Given the description of an element on the screen output the (x, y) to click on. 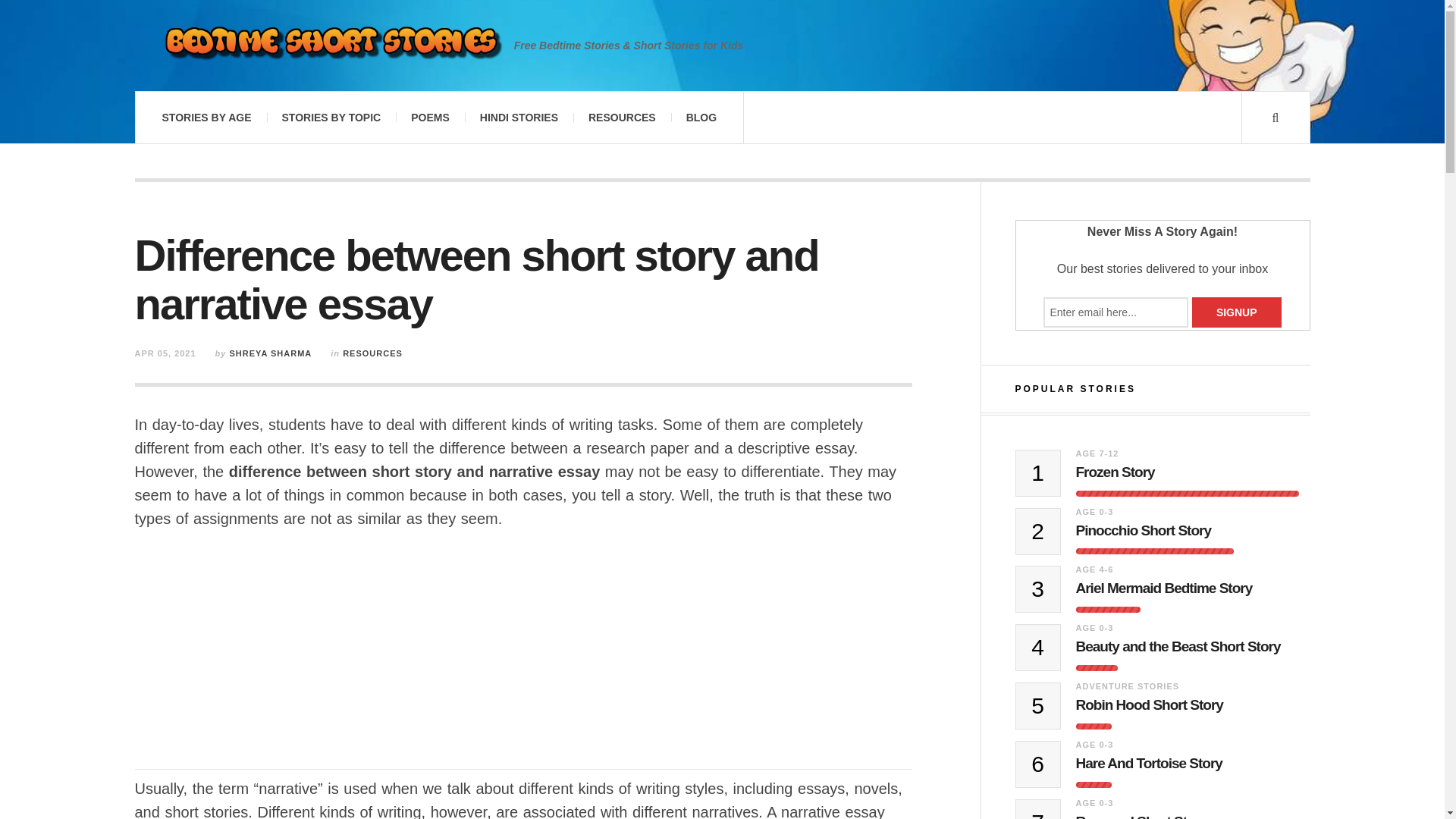
Bedtimeshortstories (331, 44)
STORIES BY TOPIC (331, 117)
BLOG (701, 117)
View all posts in Resources (372, 352)
Enter email here... (1115, 312)
View all posts in Adventure Stories (1127, 686)
View all posts in Age 0-3 (1094, 511)
View all posts in Age 4-6 (1094, 569)
View all posts in Age 0-3 (1094, 627)
STORIES BY AGE (206, 117)
Signup (1236, 312)
HINDI STORIES (518, 117)
POEMS (430, 117)
View all posts in Age 7-12 (1096, 452)
RESOURCES (622, 117)
